Given the description of an element on the screen output the (x, y) to click on. 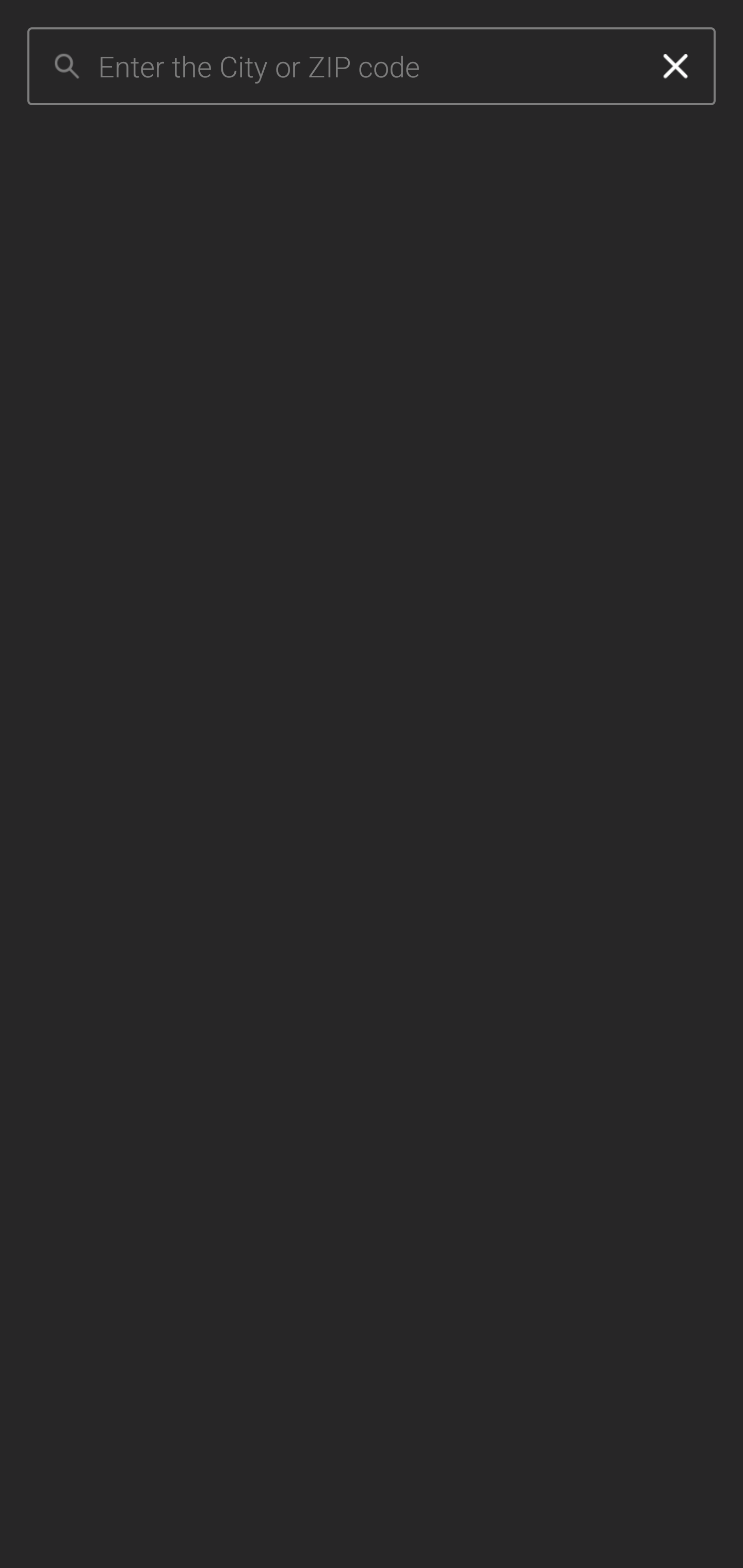
Enter the City or ZIP code (367, 66)
